Given the description of an element on the screen output the (x, y) to click on. 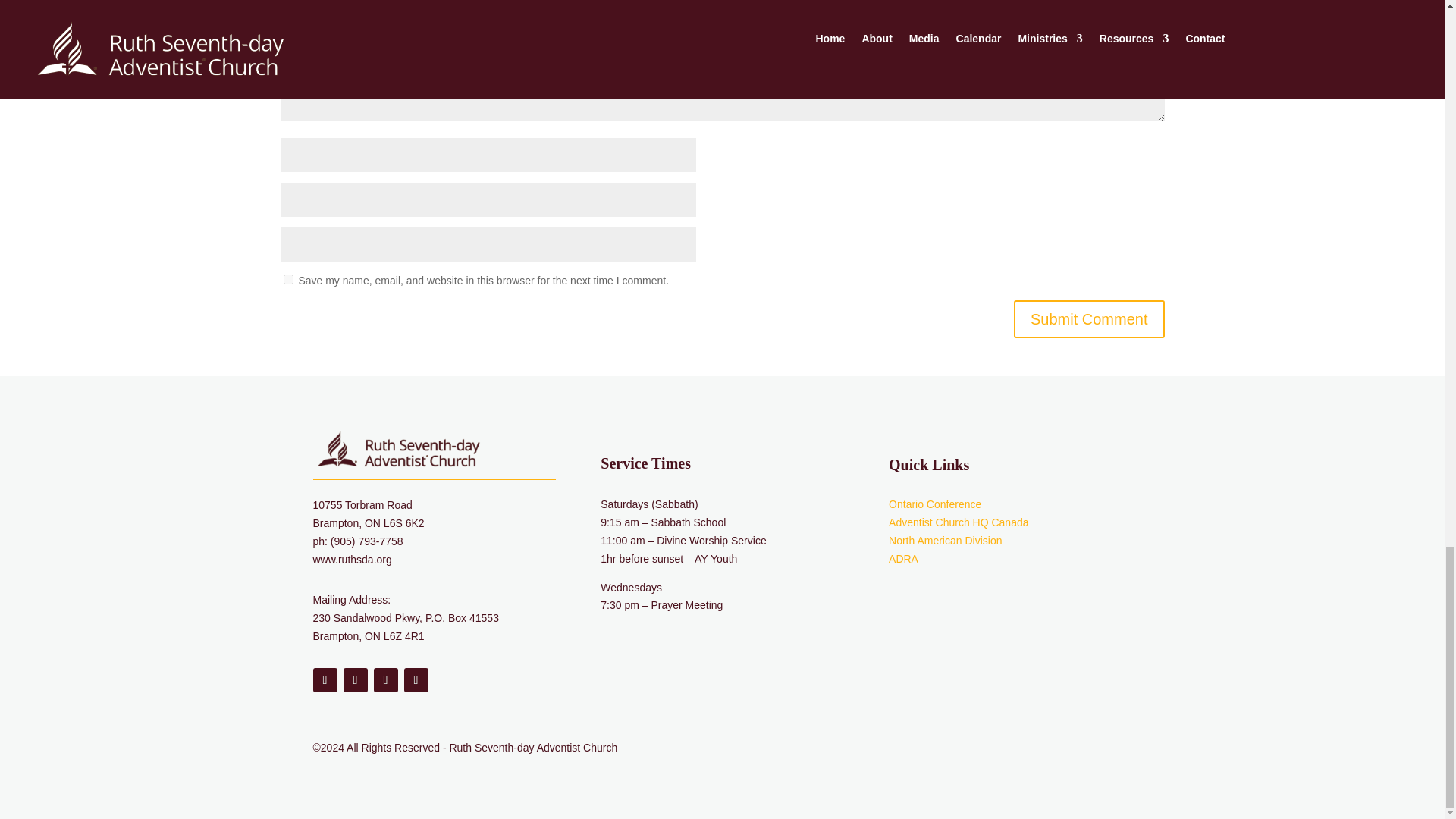
Follow on Facebook (324, 680)
yes (288, 279)
Follow on Youtube (415, 680)
Follow on X (354, 680)
Follow on Instagram (384, 680)
Submit Comment (1088, 319)
